Given the description of an element on the screen output the (x, y) to click on. 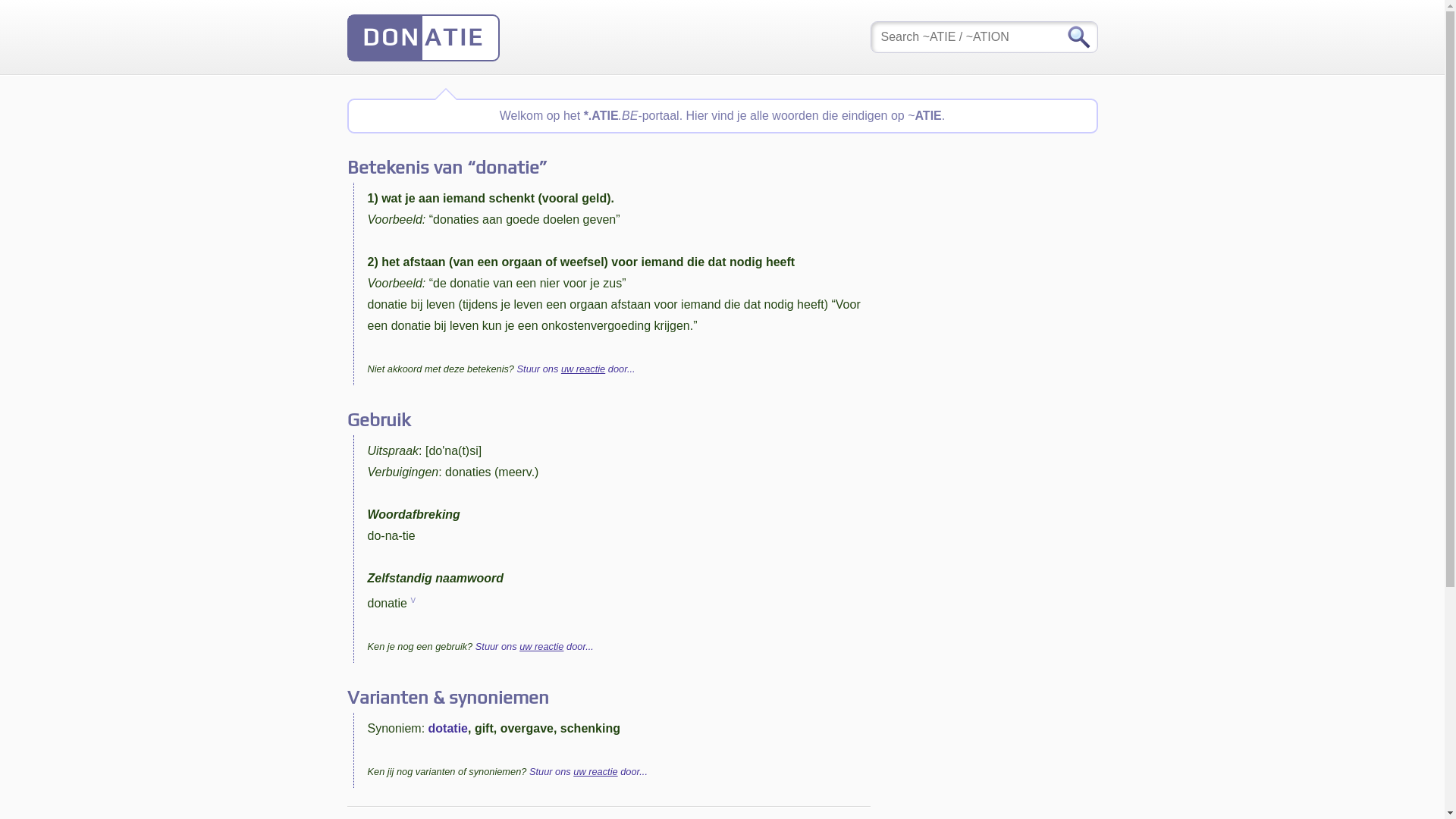
dotatie Element type: text (447, 727)
Advertisement Element type: hover (984, 409)
Stuur ons uw reactie door... Element type: text (534, 646)
Stuur ons uw reactie door... Element type: text (588, 771)
Stuur ons uw reactie door... Element type: text (576, 368)
